Given the description of an element on the screen output the (x, y) to click on. 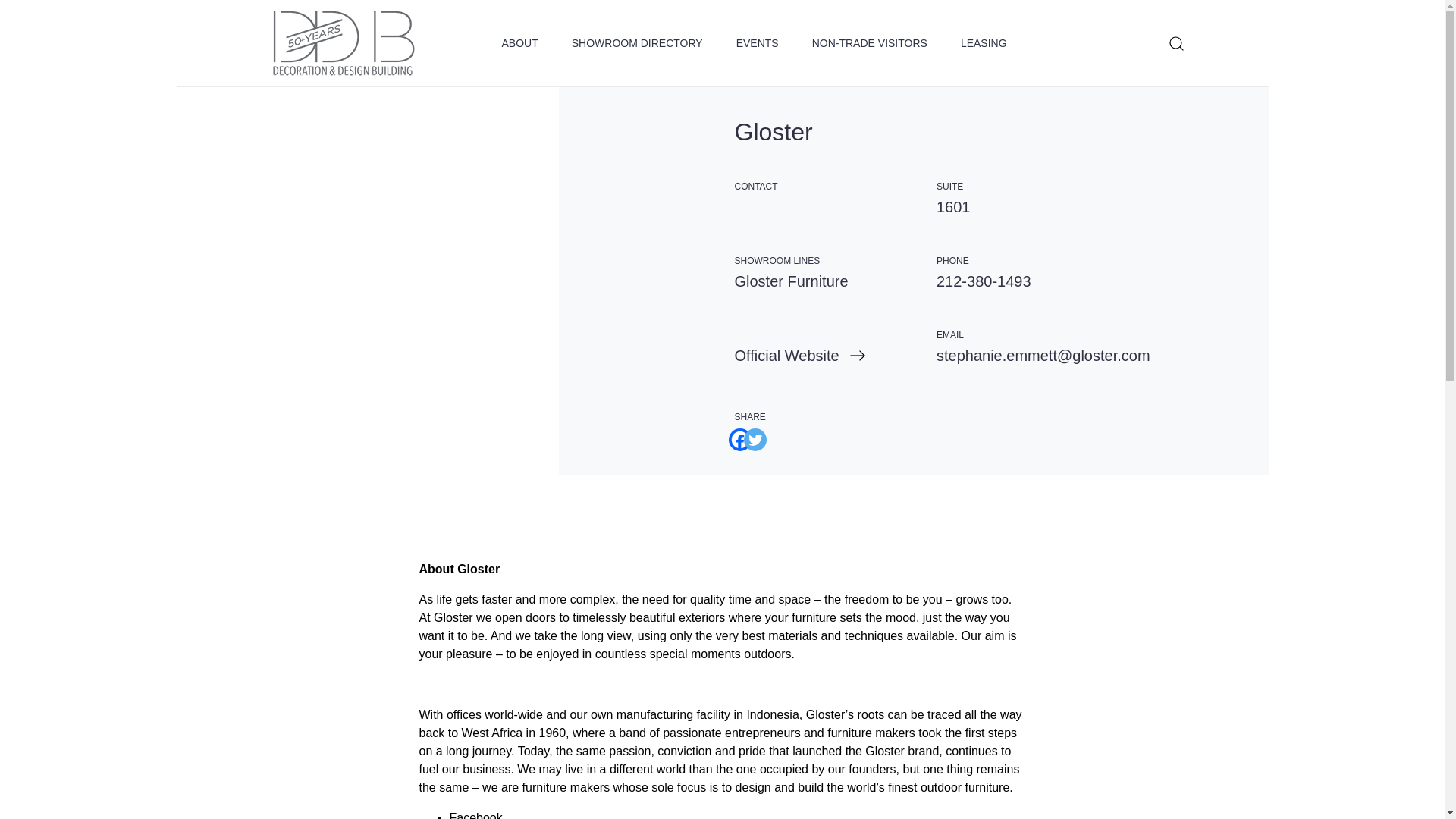
SHOWROOM DIRECTORY (637, 43)
Official Website (834, 354)
LEASING (983, 43)
Facebook (733, 434)
EVENTS (757, 43)
NON-TRADE VISITORS (869, 43)
Twitter (748, 434)
ABOUT (520, 43)
